Given the description of an element on the screen output the (x, y) to click on. 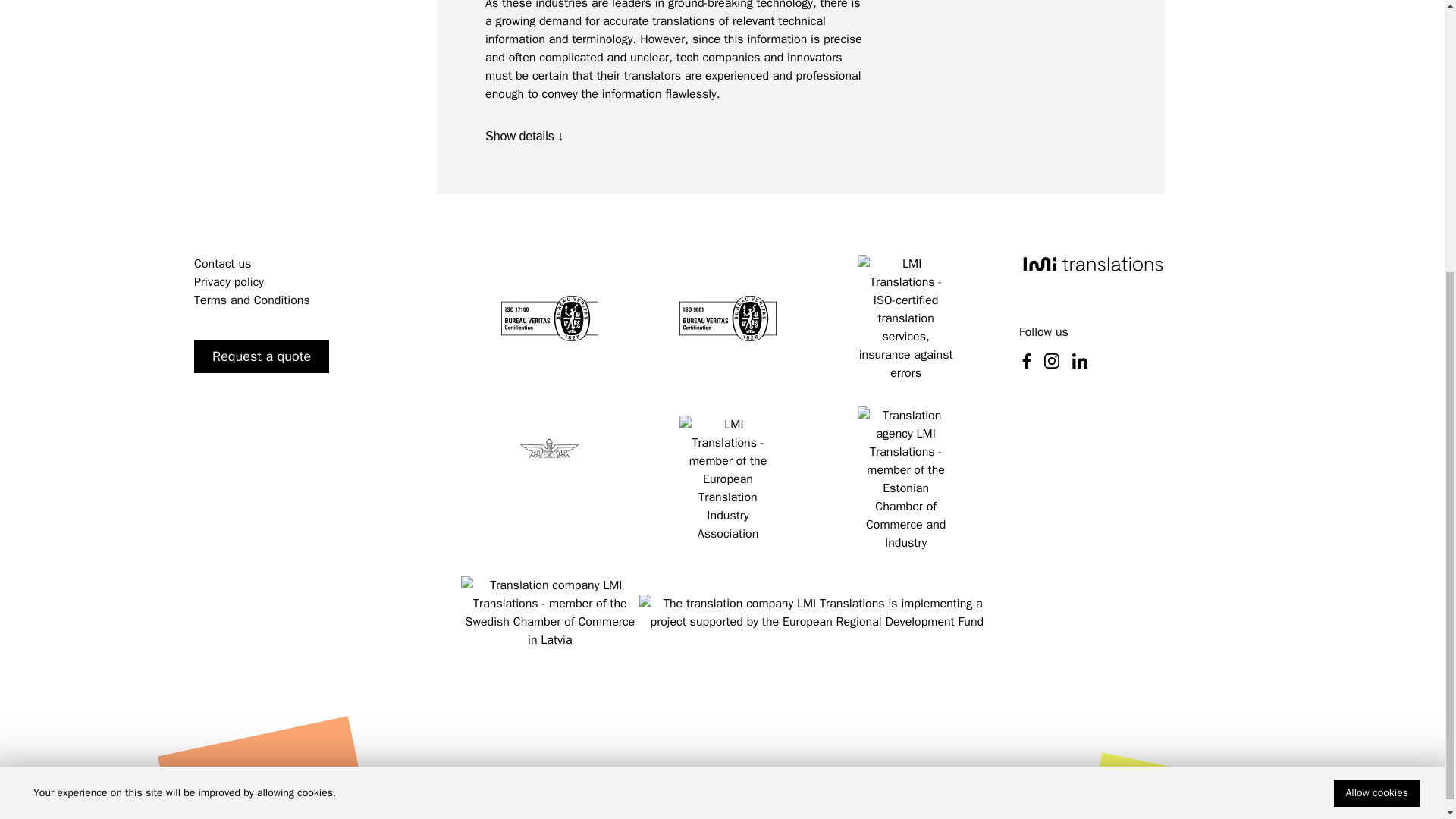
Contact us (221, 263)
Request a quote (261, 356)
Terms and Conditions (251, 299)
Privacy policy (228, 281)
